Given the description of an element on the screen output the (x, y) to click on. 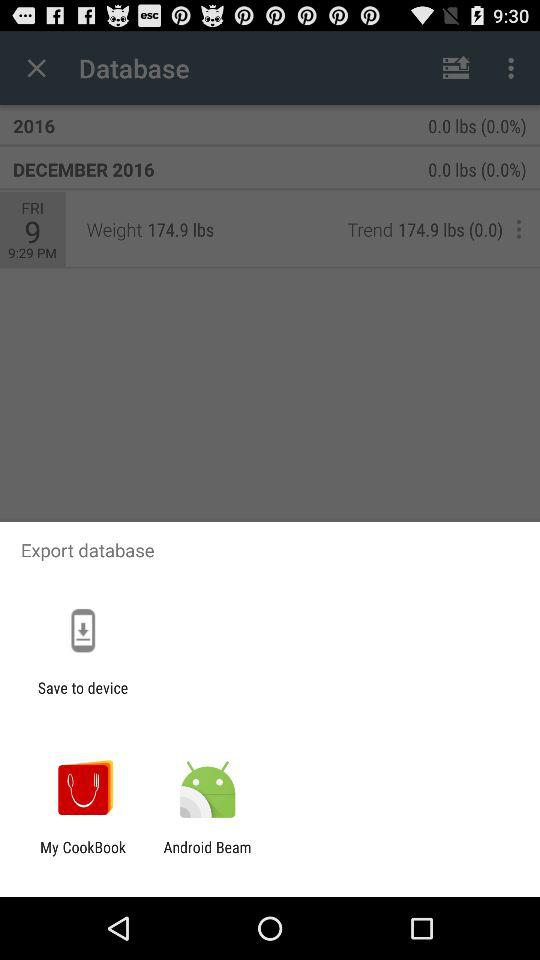
turn on save to device app (82, 696)
